Given the description of an element on the screen output the (x, y) to click on. 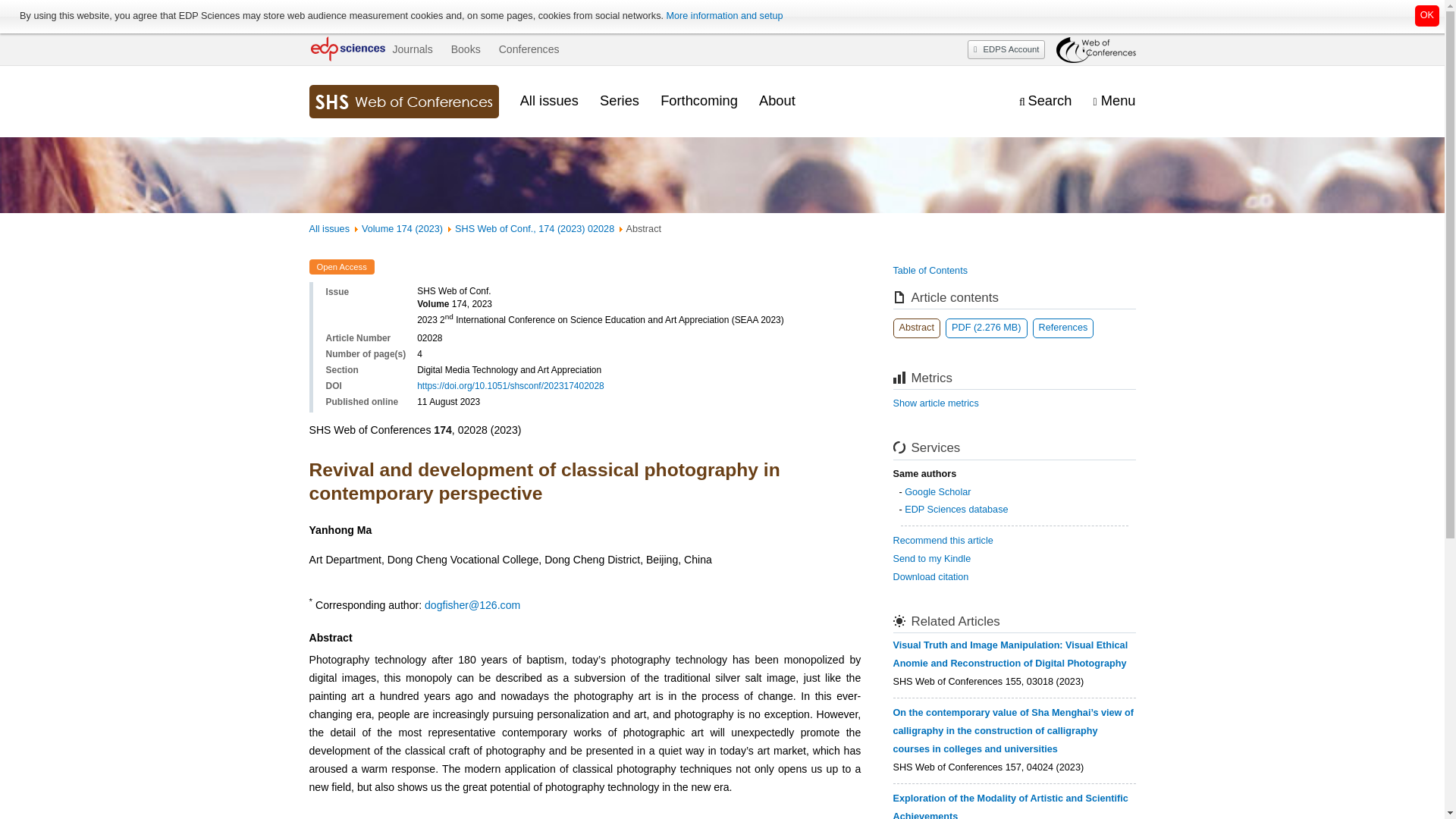
Display the search engine (1045, 101)
OK (1427, 15)
More information and setup (724, 15)
Journals (411, 49)
Click to close this notification (1427, 15)
Journal homepage (403, 101)
Abstract (916, 328)
Books (465, 49)
Conferences (529, 49)
